Given the description of an element on the screen output the (x, y) to click on. 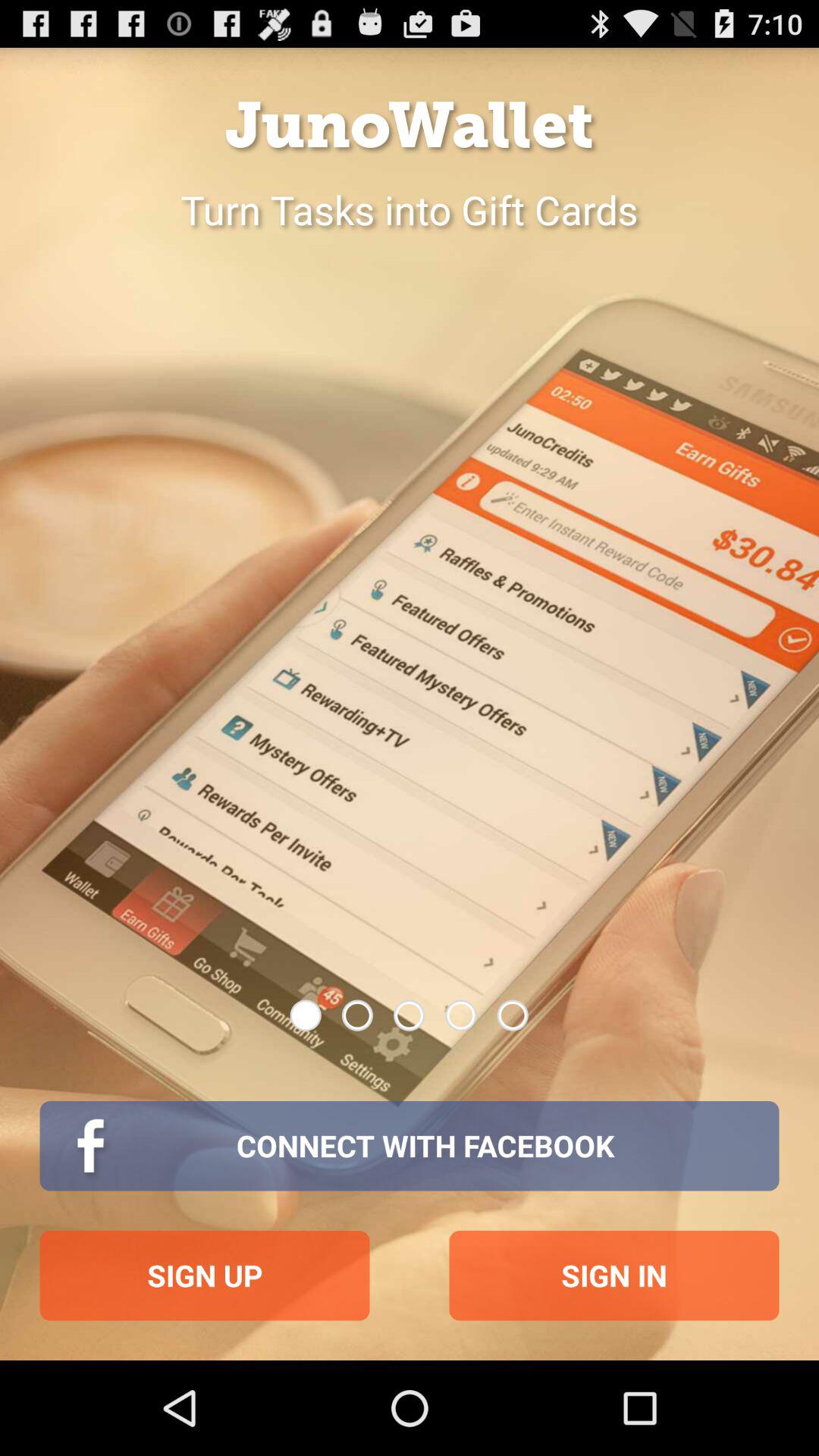
turn on the connect with facebook button (409, 1145)
